Given the description of an element on the screen output the (x, y) to click on. 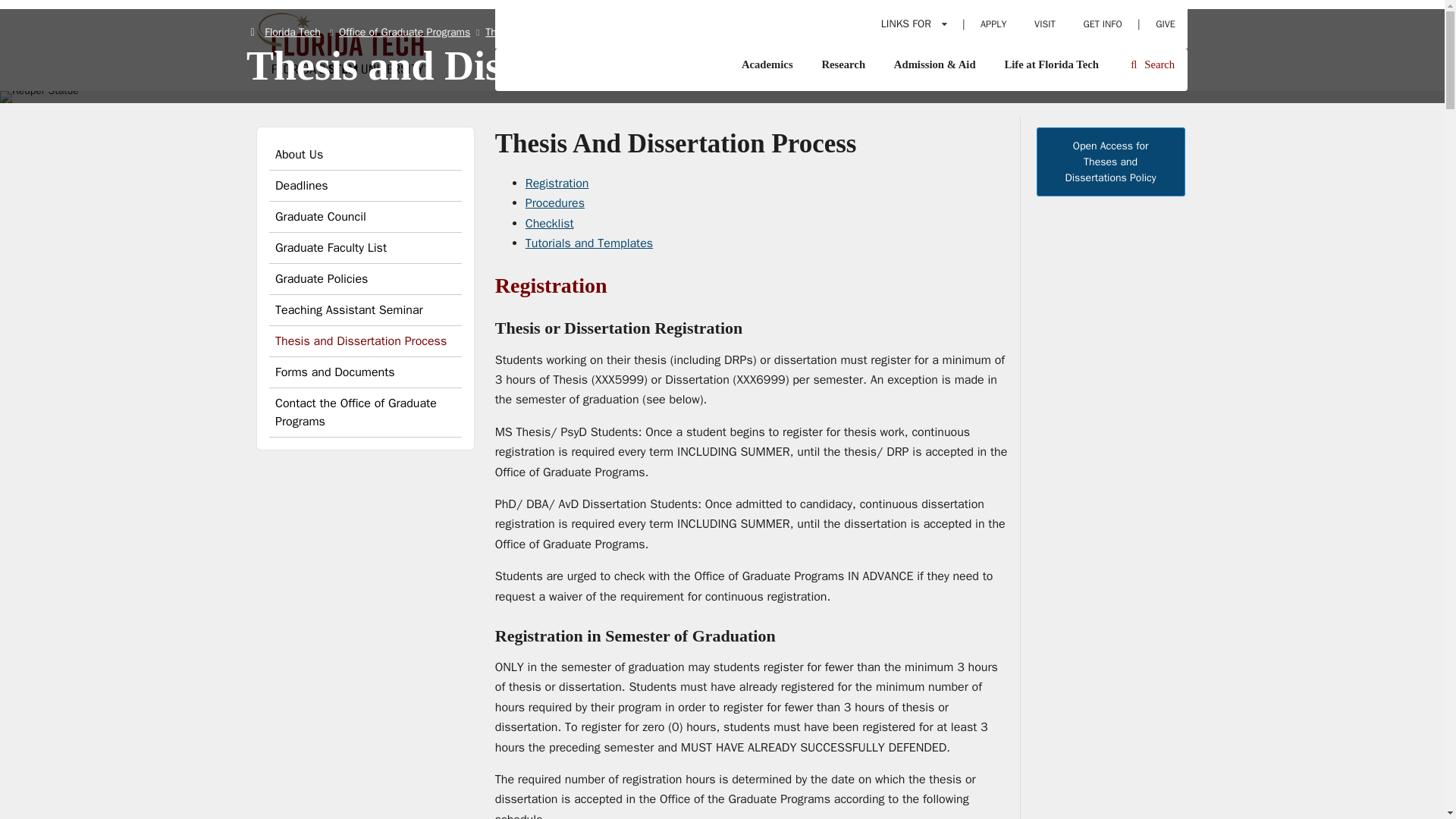
Academics (767, 64)
Research (843, 64)
